Given the description of an element on the screen output the (x, y) to click on. 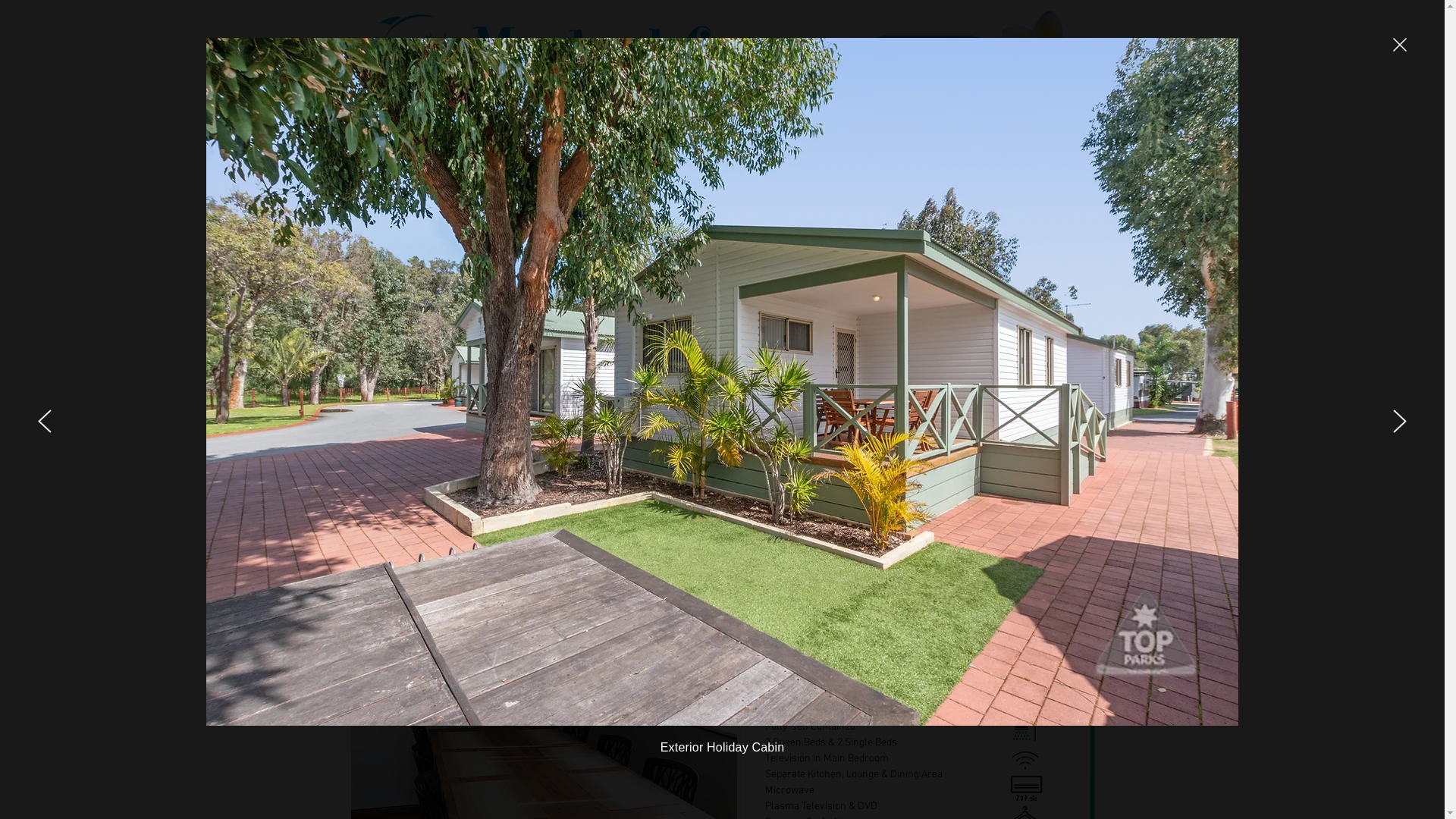
SITES Element type: text (651, 173)
BOOK NOW Element type: text (926, 65)
SPECIALS Element type: text (456, 173)
CONTACT US Element type: text (1044, 173)
HOME Element type: text (385, 173)
PARK MAP Element type: text (806, 173)
BOOK NOW Element type: text (938, 558)
+(08) 9535 1171 Element type: text (860, 149)
POLICIES Element type: text (957, 173)
FACILITIES Element type: text (722, 173)
EVENTS Element type: text (884, 173)
ACCOMMODATION Element type: text (560, 173)
